Given the description of an element on the screen output the (x, y) to click on. 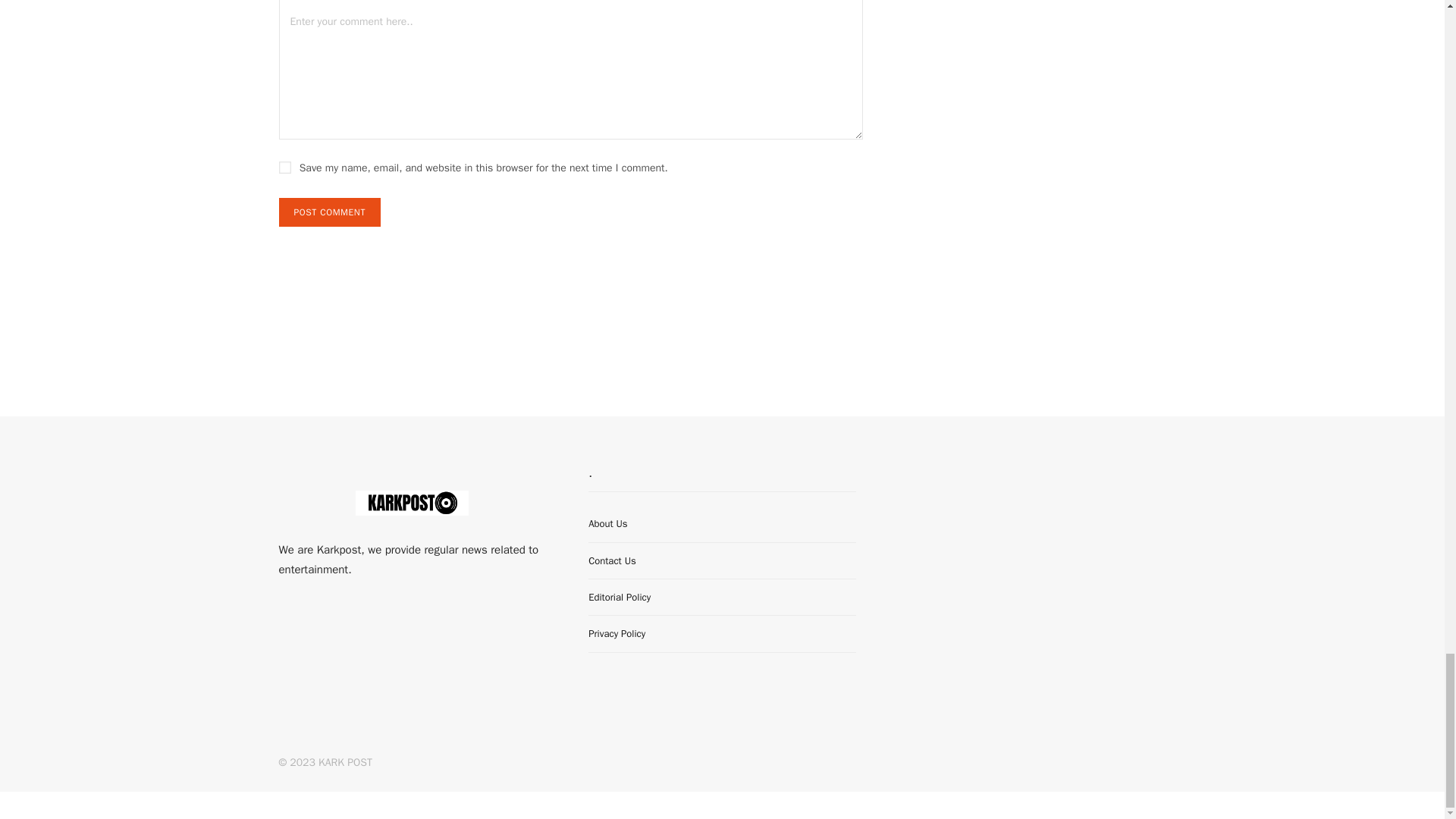
Post Comment (329, 212)
yes (285, 167)
